Given the description of an element on the screen output the (x, y) to click on. 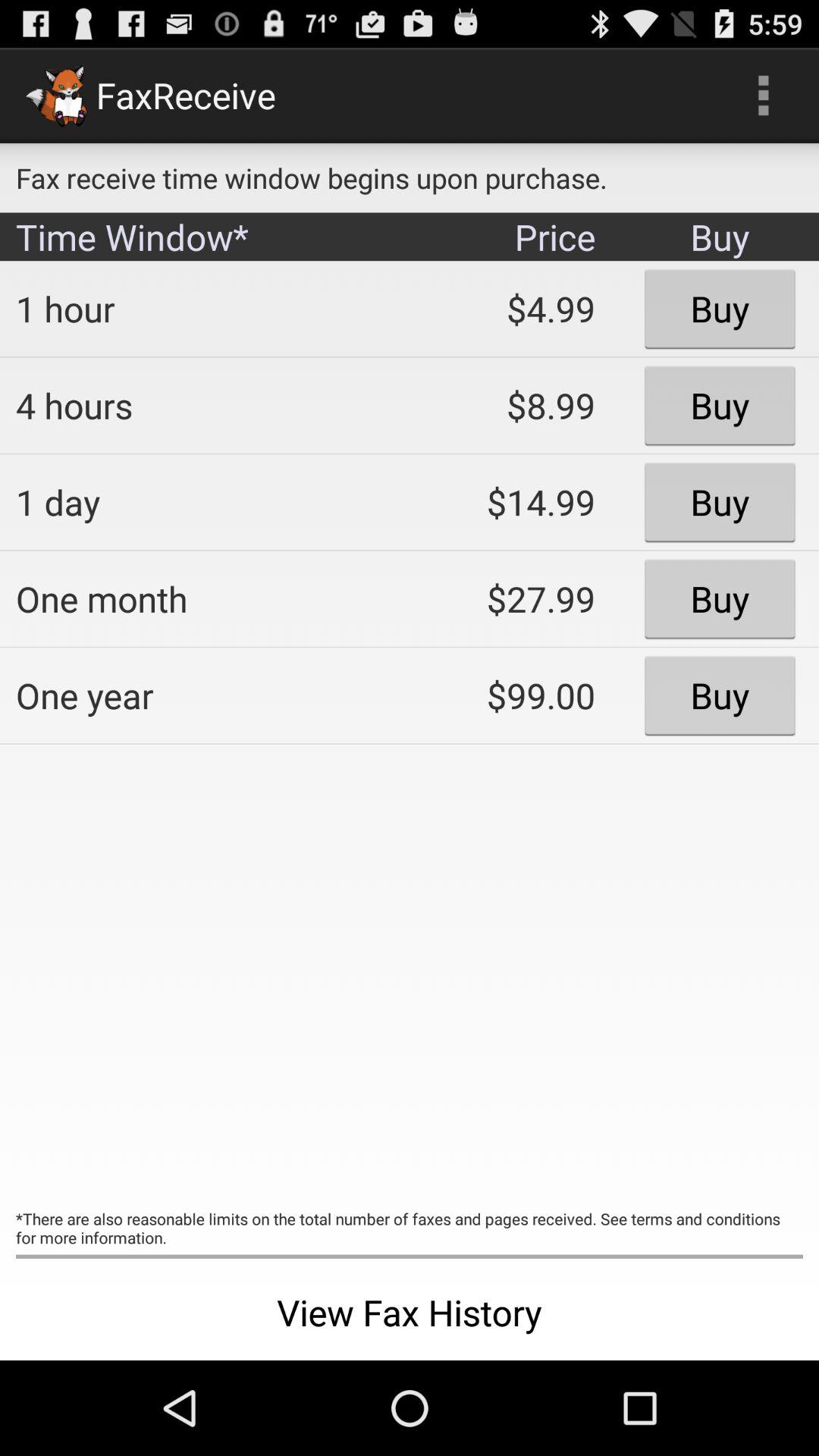
launch the 1 day icon (201, 501)
